Given the description of an element on the screen output the (x, y) to click on. 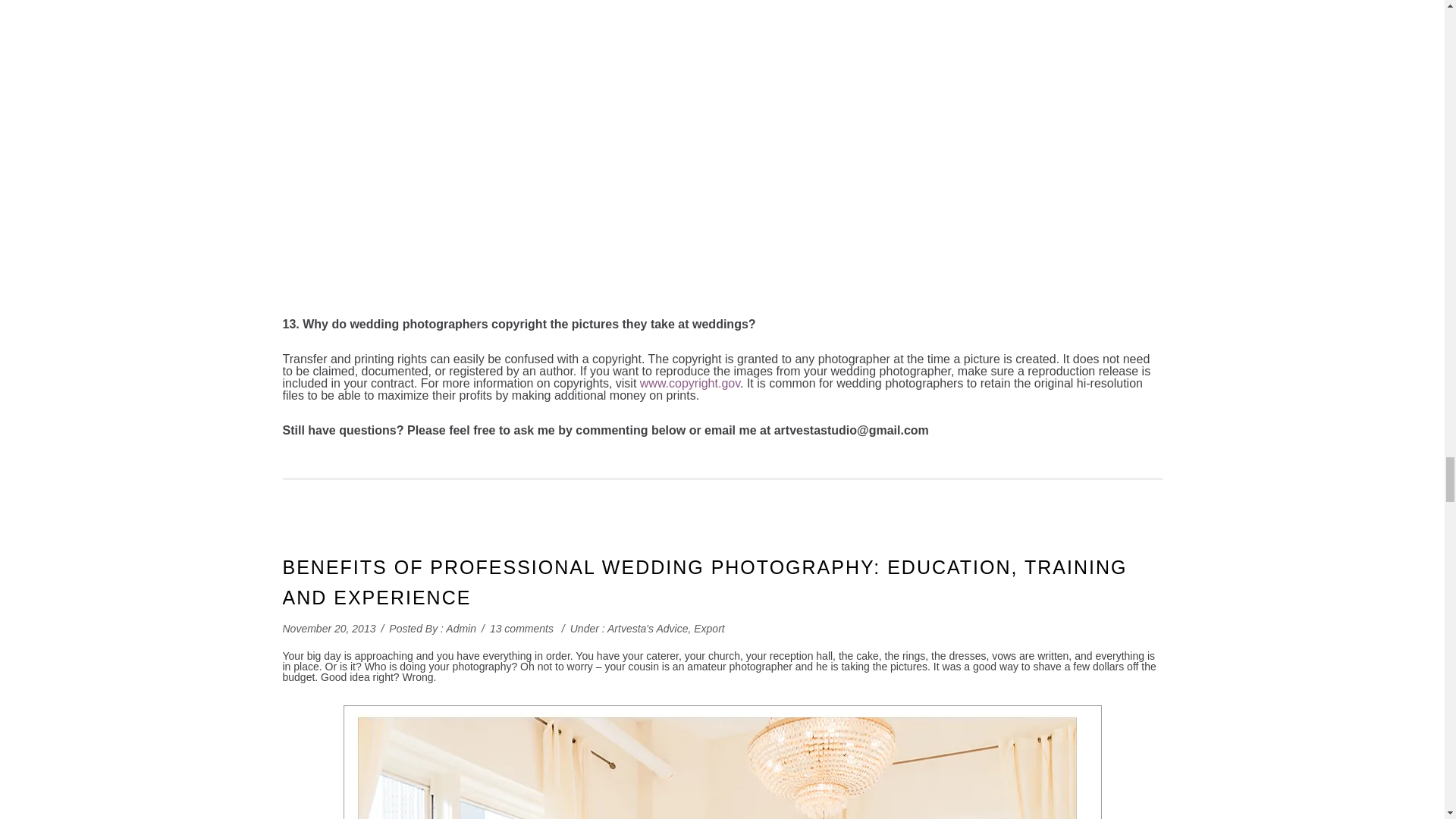
www.copyright.gov (689, 382)
